Given the description of an element on the screen output the (x, y) to click on. 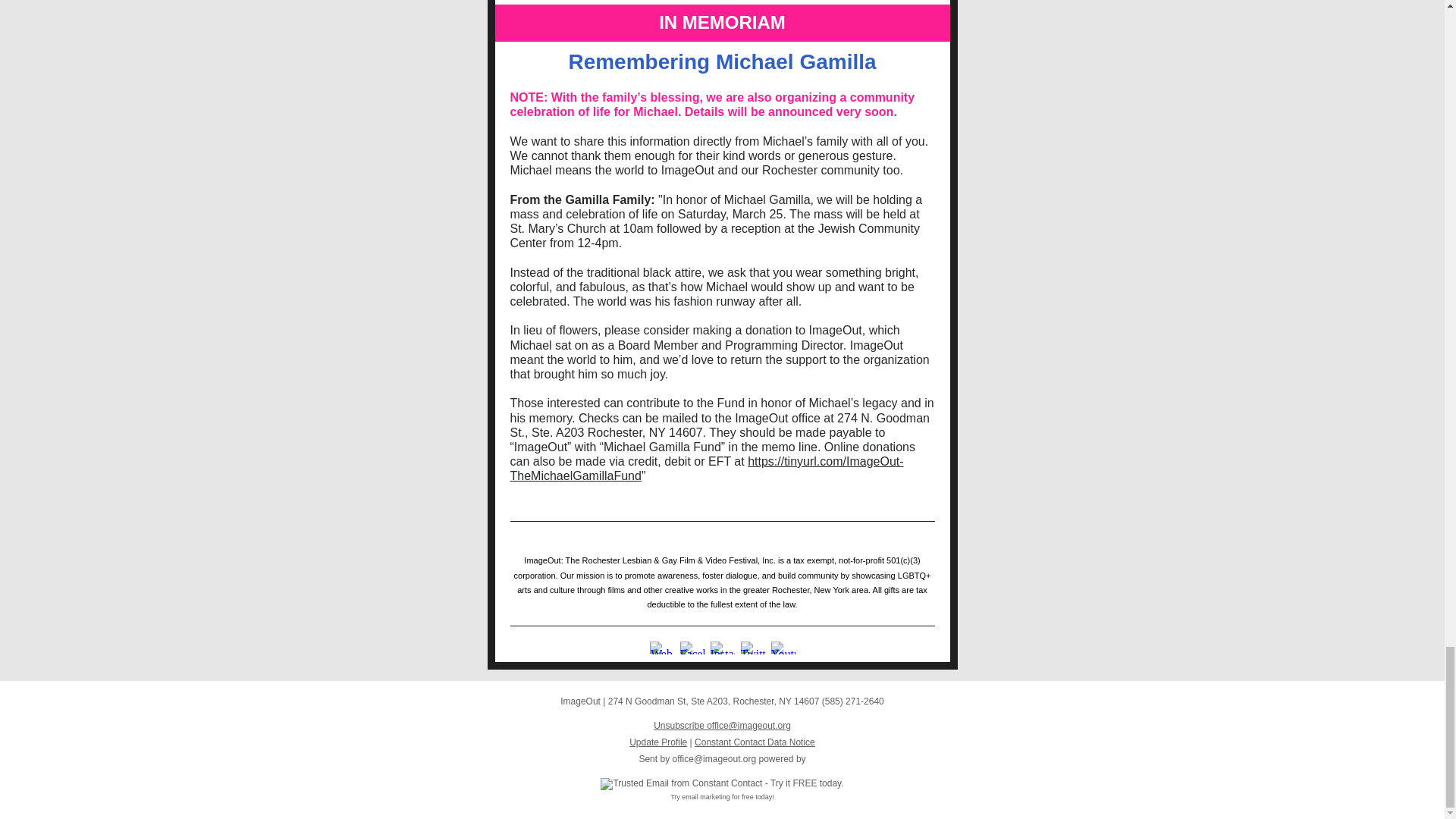
Update Profile (657, 742)
Constant Contact Data Notice (754, 742)
Try email marketing for free today! (721, 796)
